Given the description of an element on the screen output the (x, y) to click on. 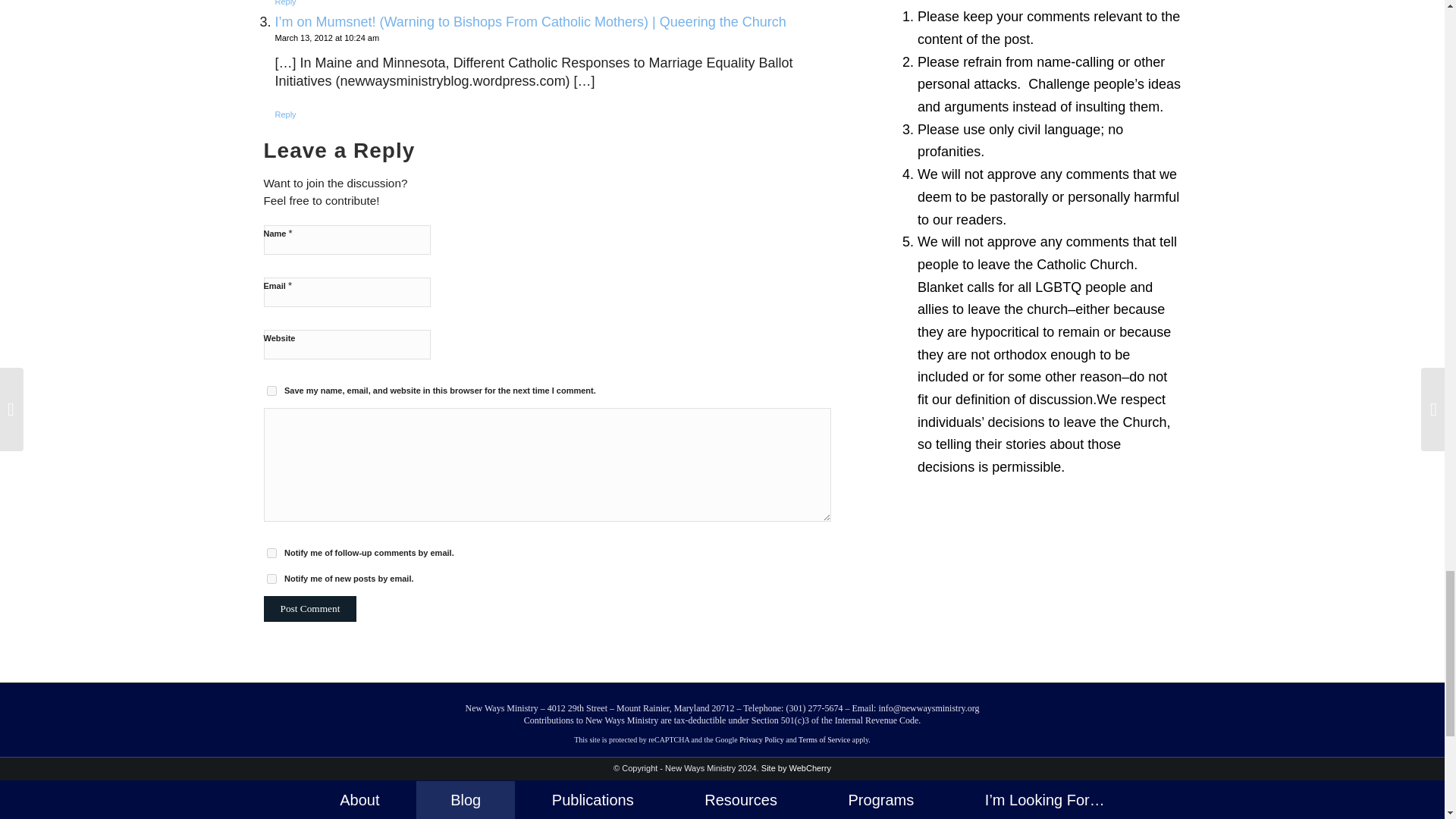
subscribe (271, 578)
subscribe (271, 552)
Post Comment (309, 608)
yes (271, 390)
